Given the description of an element on the screen output the (x, y) to click on. 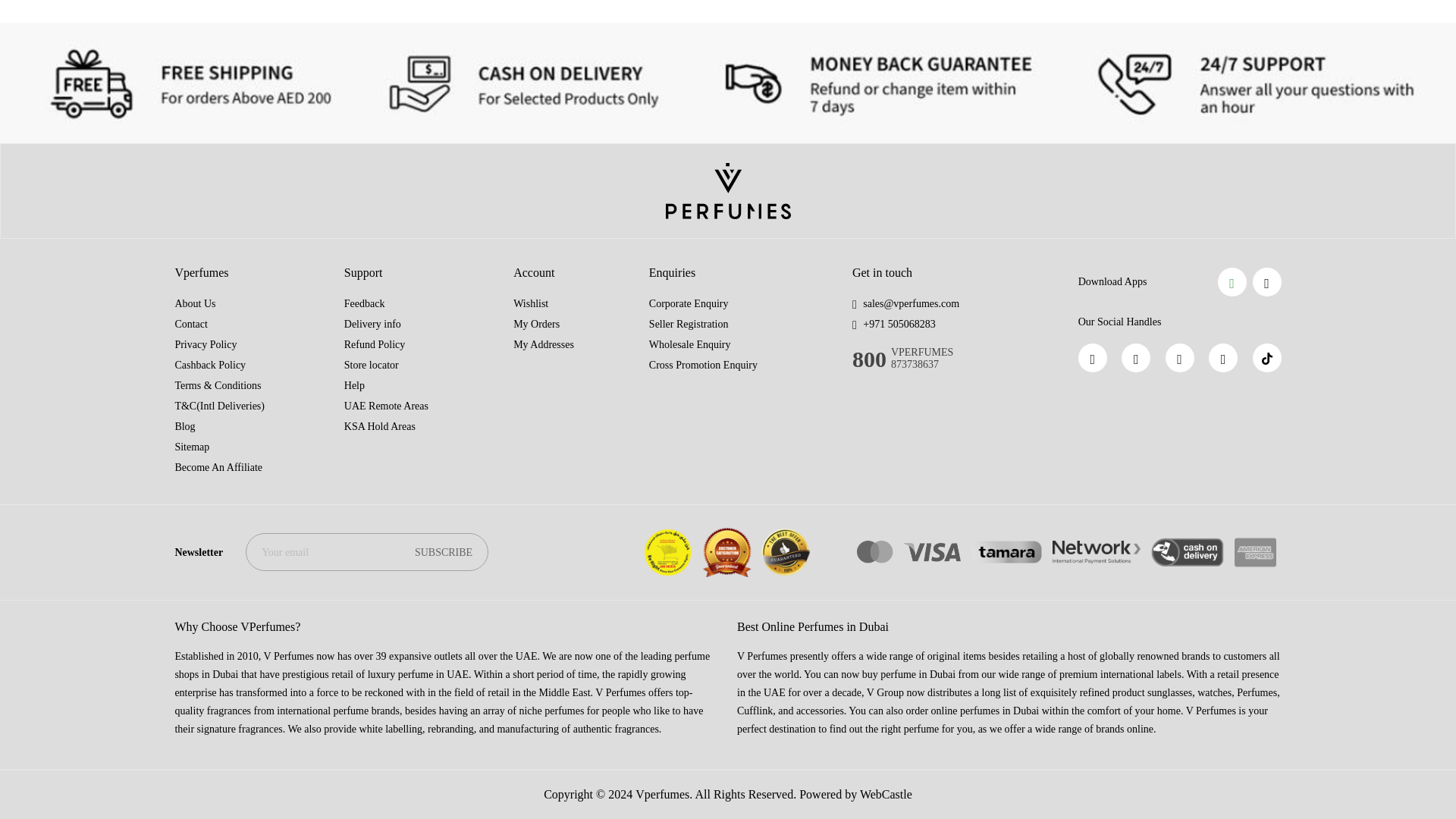
About Us (194, 303)
Feedback (364, 303)
UAE Remote Areas (385, 405)
Store locator (370, 365)
KSA Hold Areas (378, 426)
Folow us on Instagram (1179, 357)
Help (354, 385)
Cross Promotion Enquiry (703, 365)
SUBSCRIBE (443, 552)
Folow us on Facebook (1092, 357)
